Given the description of an element on the screen output the (x, y) to click on. 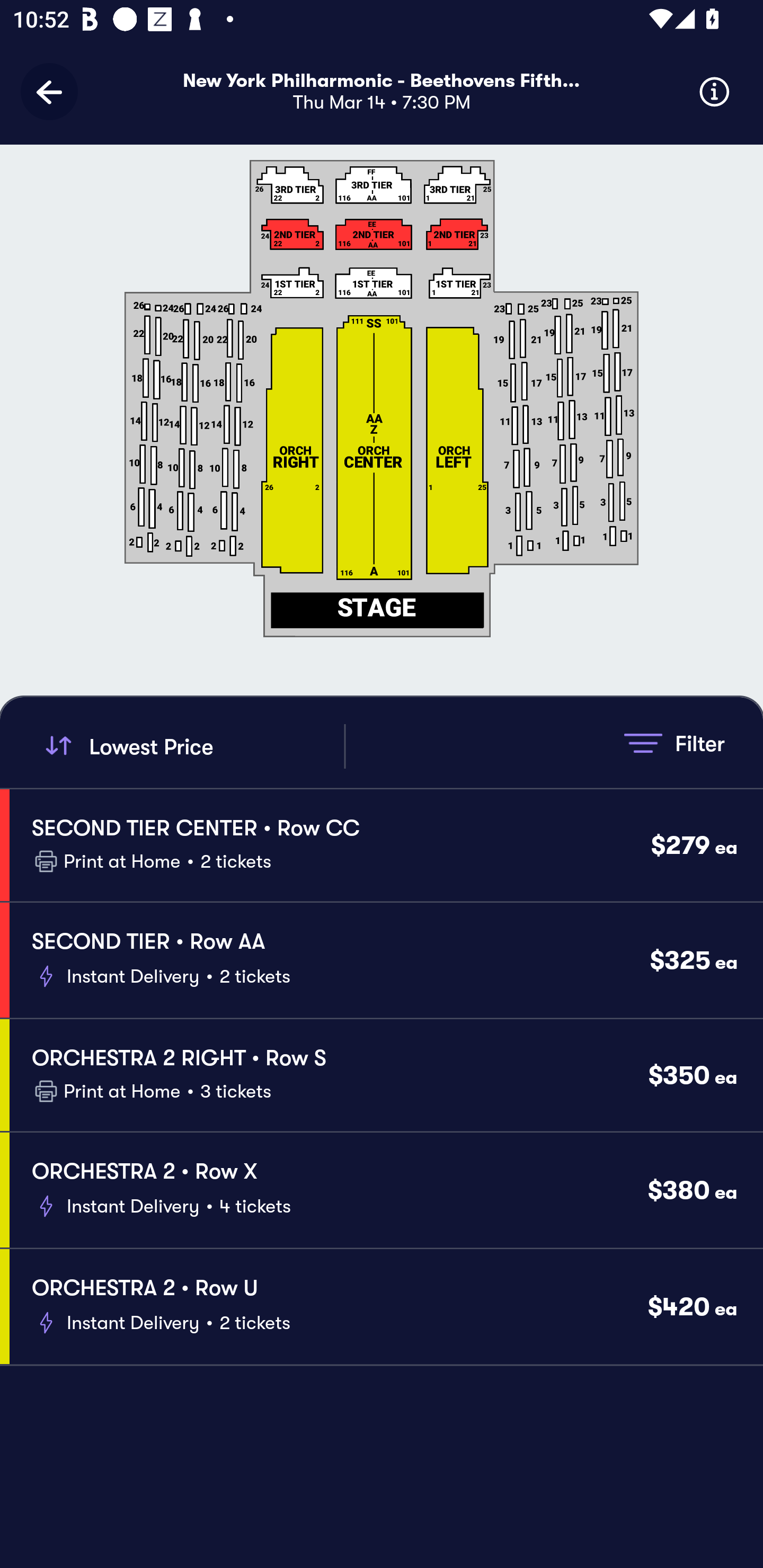
Lowest Price (191, 746)
Filter (674, 743)
